Given the description of an element on the screen output the (x, y) to click on. 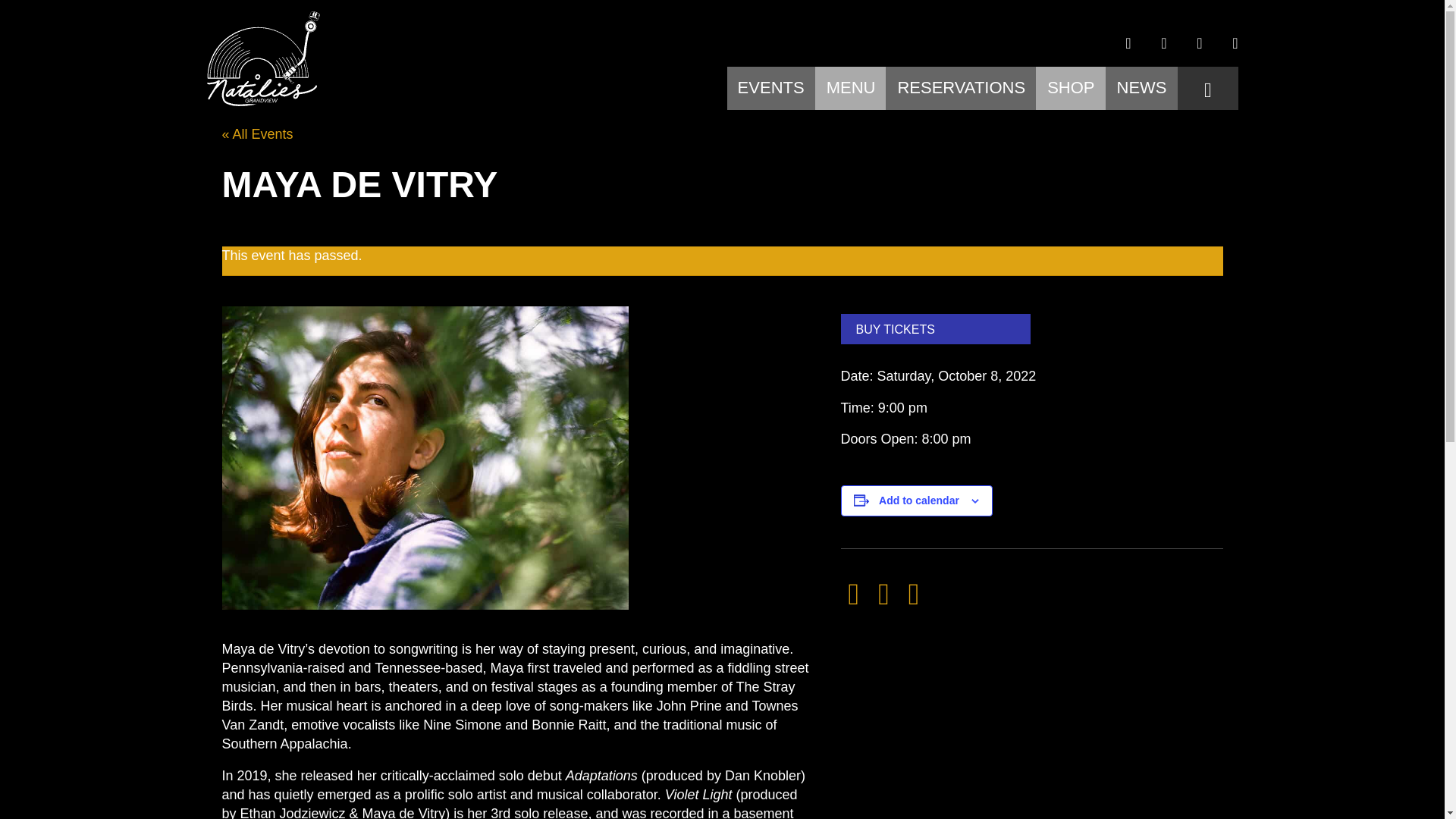
Maya de Vitry - Photo by Laura Partain (424, 457)
RESERVATIONS (960, 90)
EVENTS (771, 90)
SHOP (1070, 90)
Add to calendar (919, 500)
Natalies-Grandview-logo-149x125 (262, 58)
BUY TICKETS (934, 328)
MENU (851, 90)
NEWS (1141, 90)
